Given the description of an element on the screen output the (x, y) to click on. 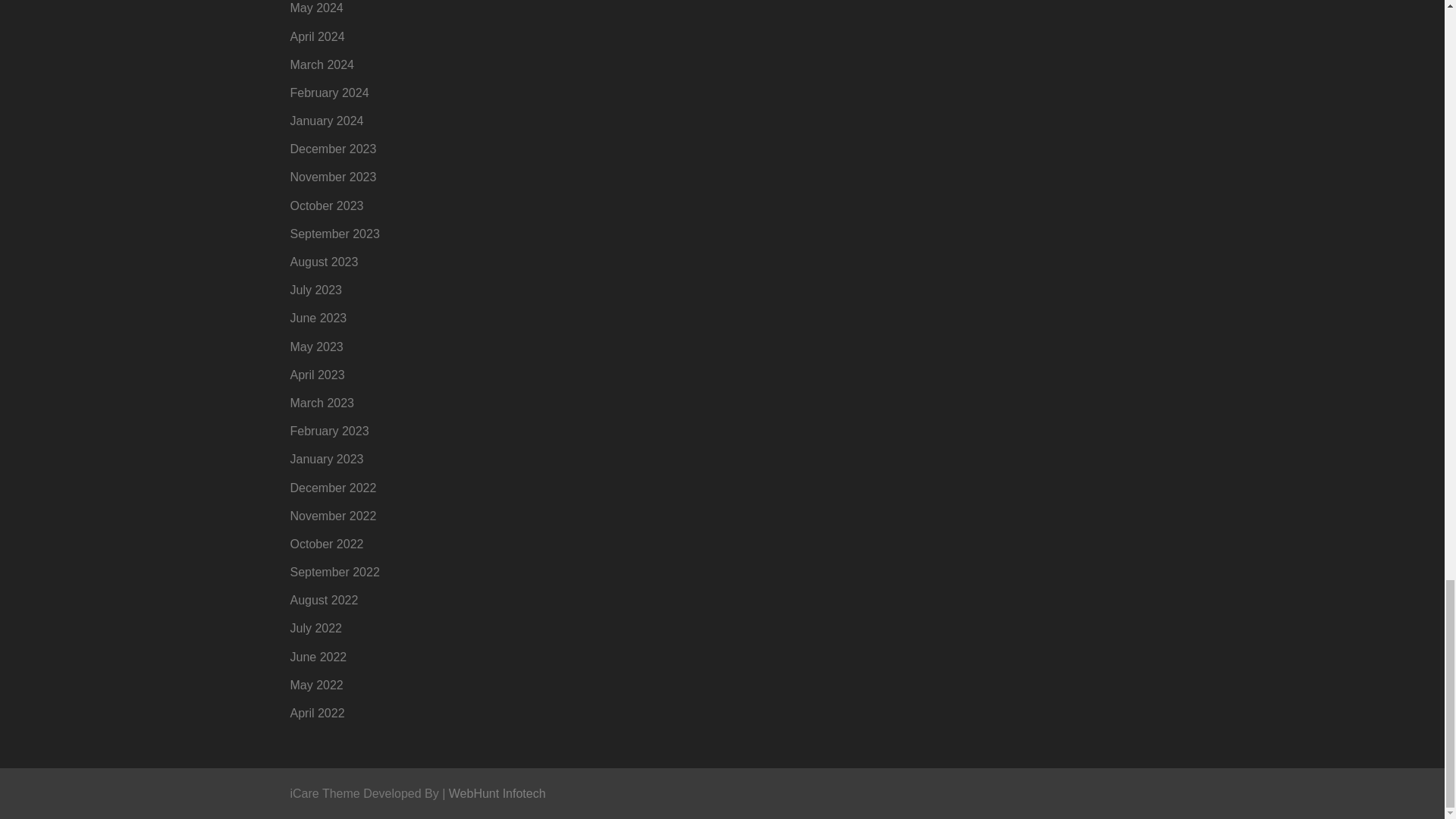
August 2023 (323, 261)
December 2023 (332, 148)
June 2023 (317, 318)
February 2024 (328, 92)
September 2023 (333, 233)
April 2023 (316, 374)
March 2023 (321, 402)
January 2024 (325, 120)
May 2024 (315, 7)
December 2022 (332, 487)
January 2023 (325, 459)
October 2023 (325, 205)
March 2024 (321, 64)
May 2023 (315, 346)
April 2024 (316, 36)
